Given the description of an element on the screen output the (x, y) to click on. 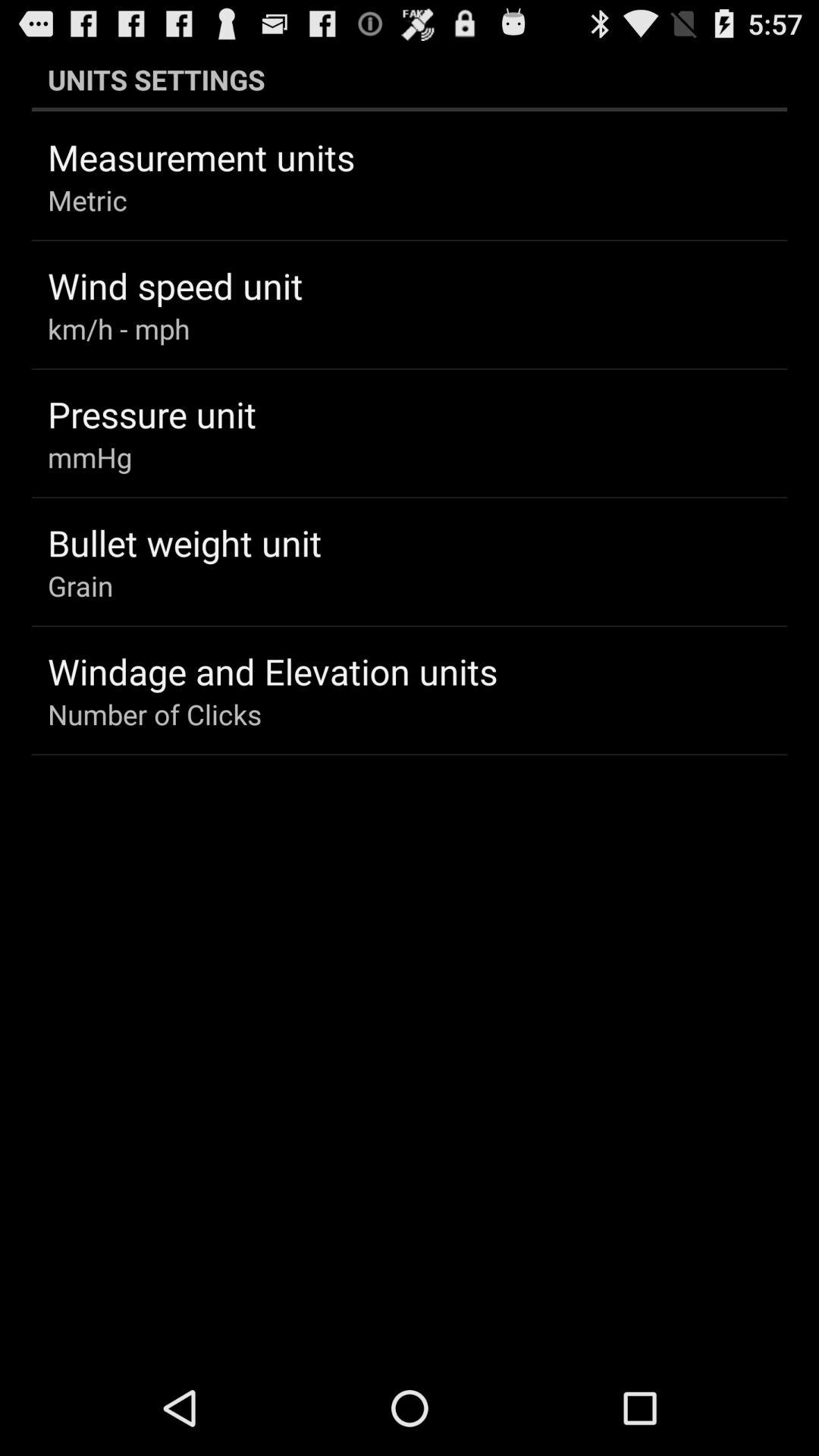
open the app above km/h - mph (175, 285)
